Given the description of an element on the screen output the (x, y) to click on. 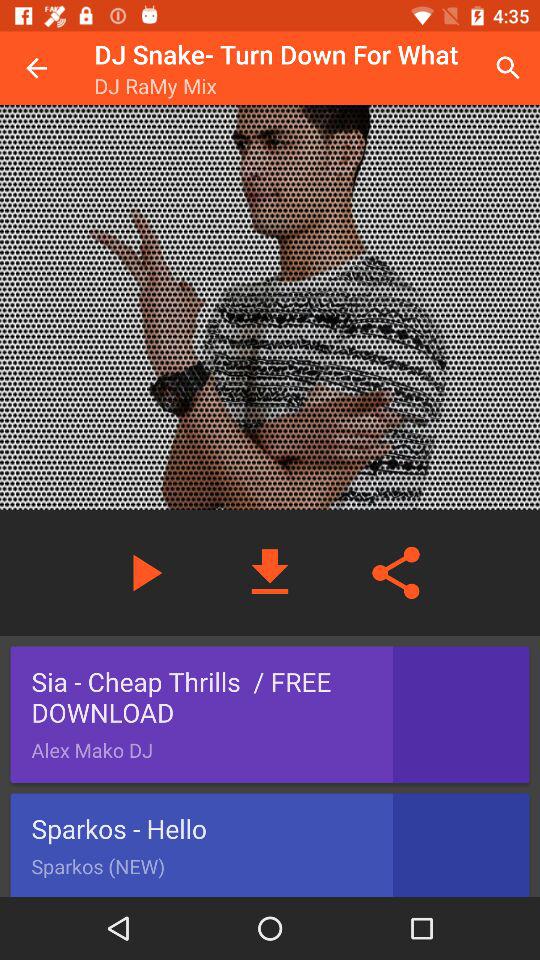
turn on icon next to the dj snake turn (508, 67)
